Given the description of an element on the screen output the (x, y) to click on. 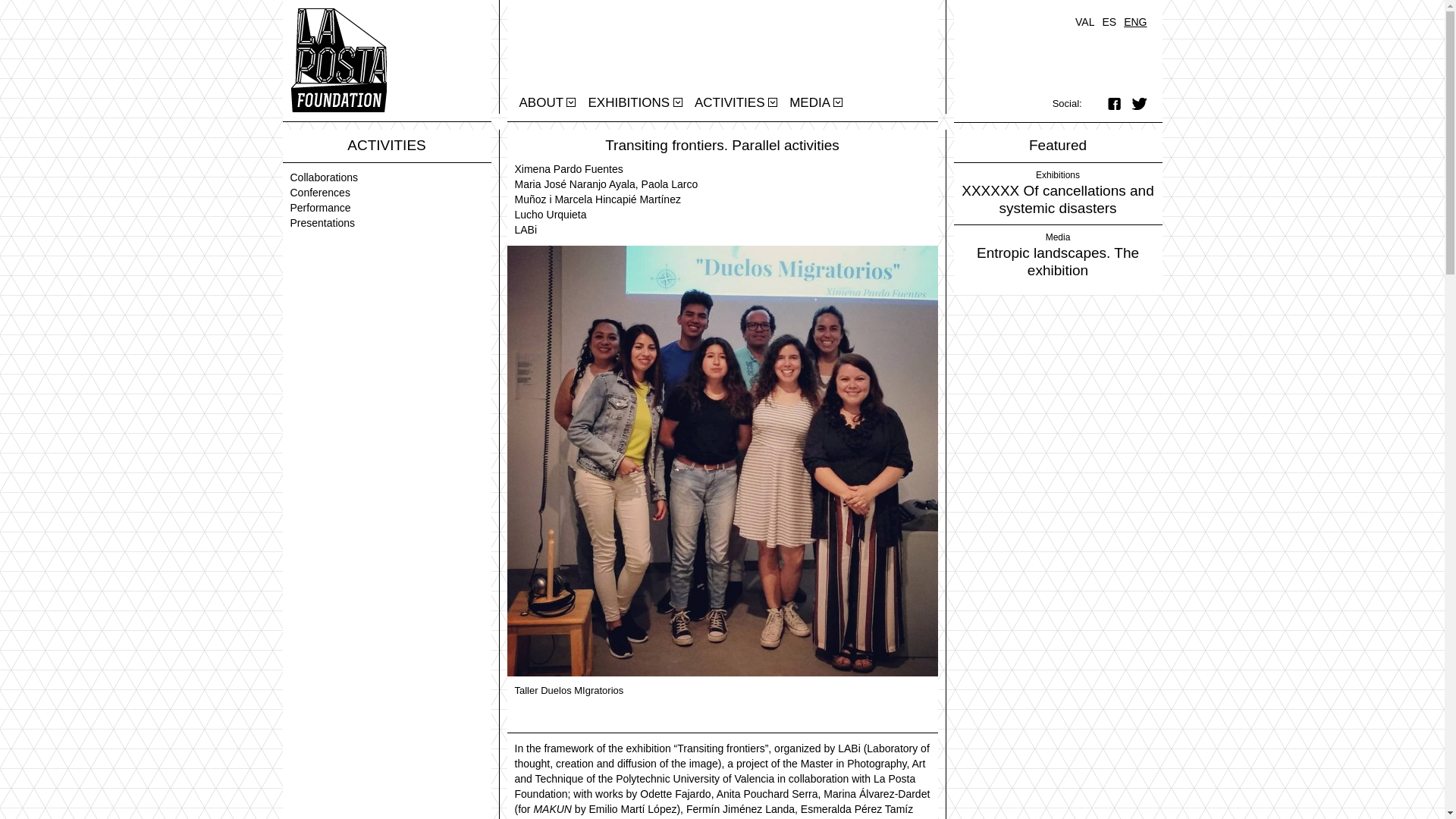
EXHIBITIONS (628, 102)
Taller Duelos MIgratorios (721, 459)
Twitter (1135, 105)
MEDIA (810, 102)
ES (1109, 21)
Back to Home (333, 59)
Performance (319, 207)
VAL (1084, 21)
VAL (1084, 21)
ES (1109, 21)
Collaborations (323, 177)
ENG (1135, 21)
ABOUT (540, 102)
Presentations (322, 223)
ENG (1135, 21)
